Given the description of an element on the screen output the (x, y) to click on. 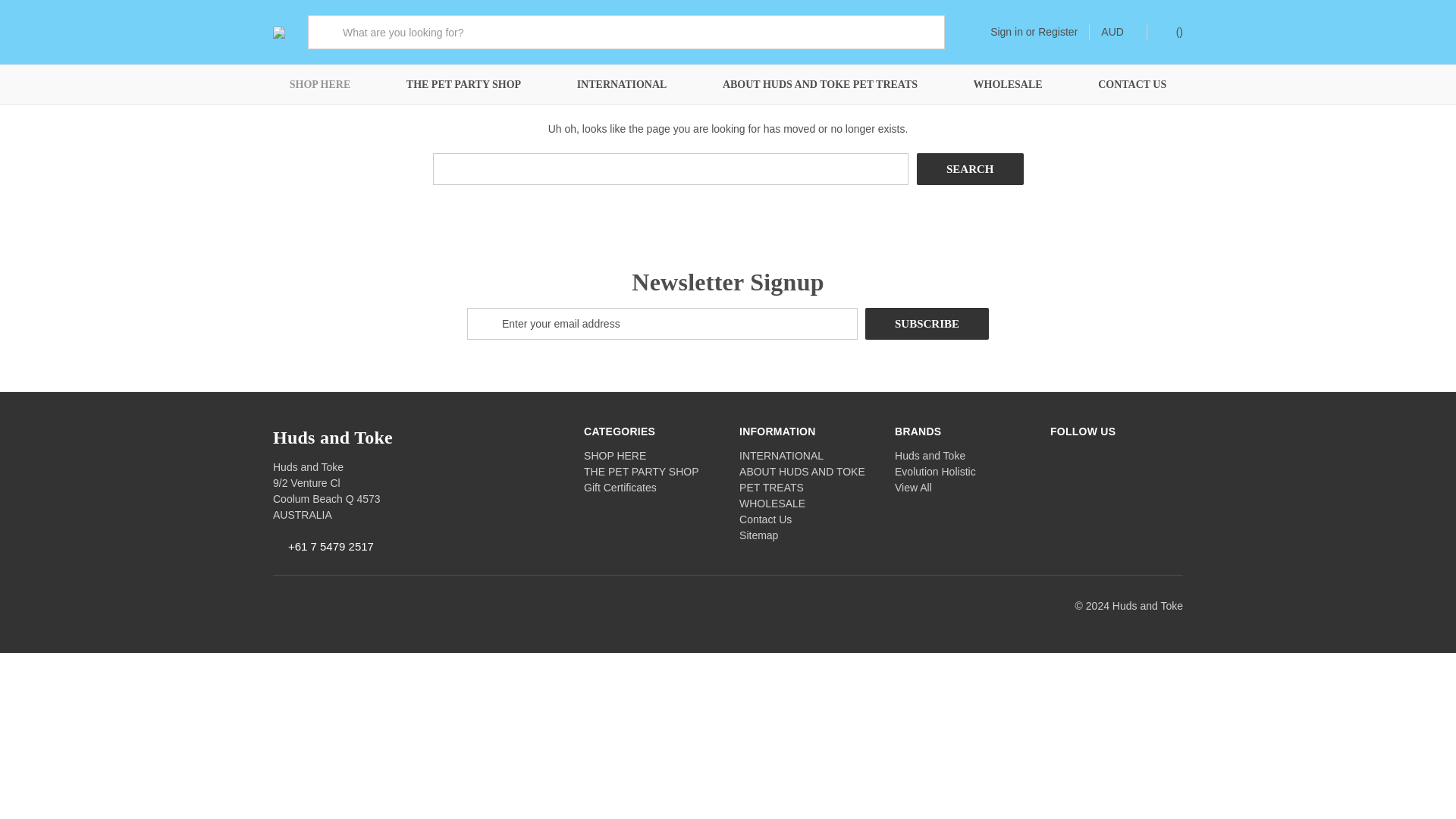
Sign in (1006, 32)
Huds and Toke (279, 31)
SHOP HERE (320, 84)
Search (970, 169)
AUD (1117, 32)
Subscribe (926, 323)
Register (1057, 32)
